Given the description of an element on the screen output the (x, y) to click on. 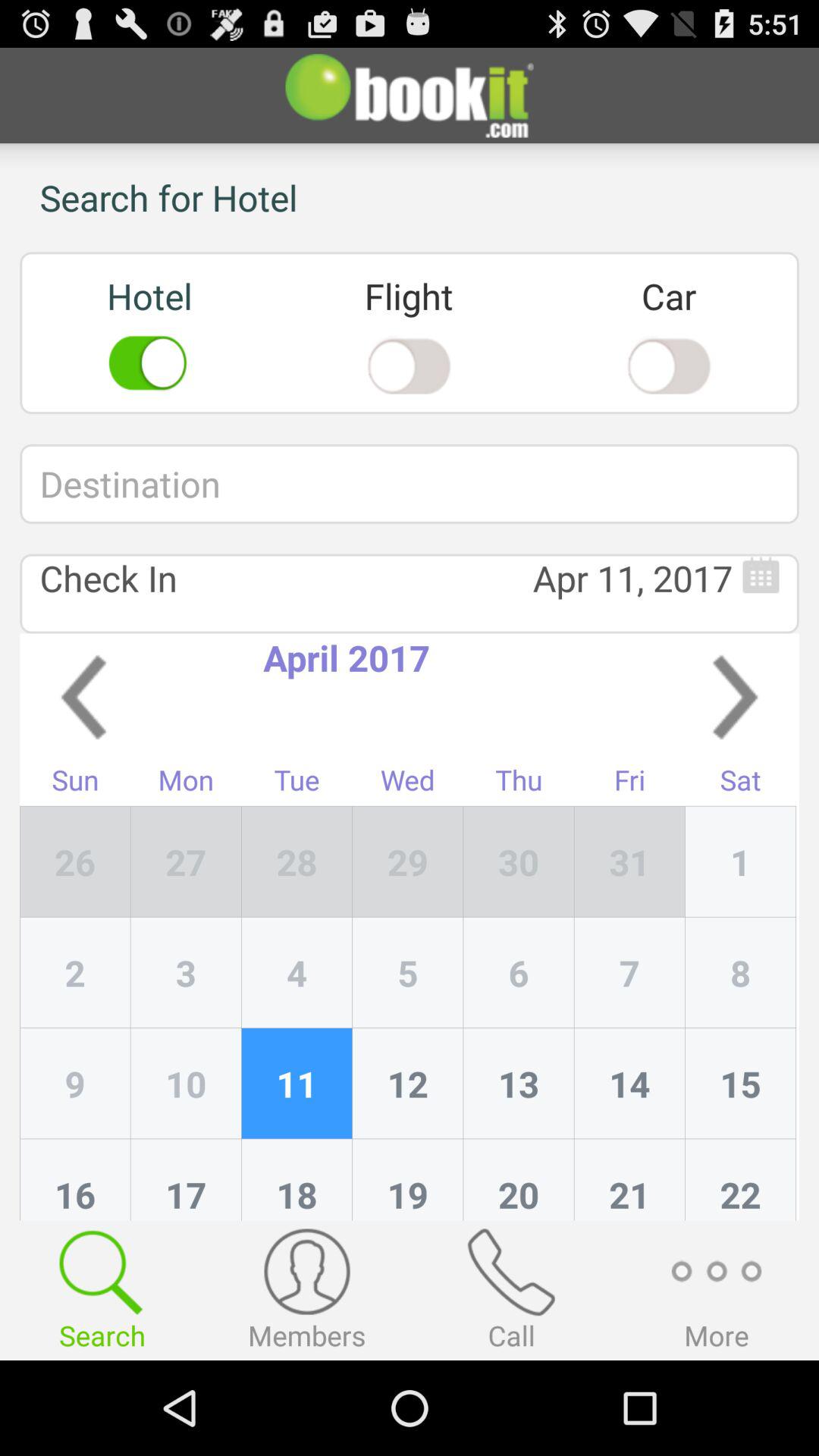
open the item to the left of 7 icon (518, 1083)
